Given the description of an element on the screen output the (x, y) to click on. 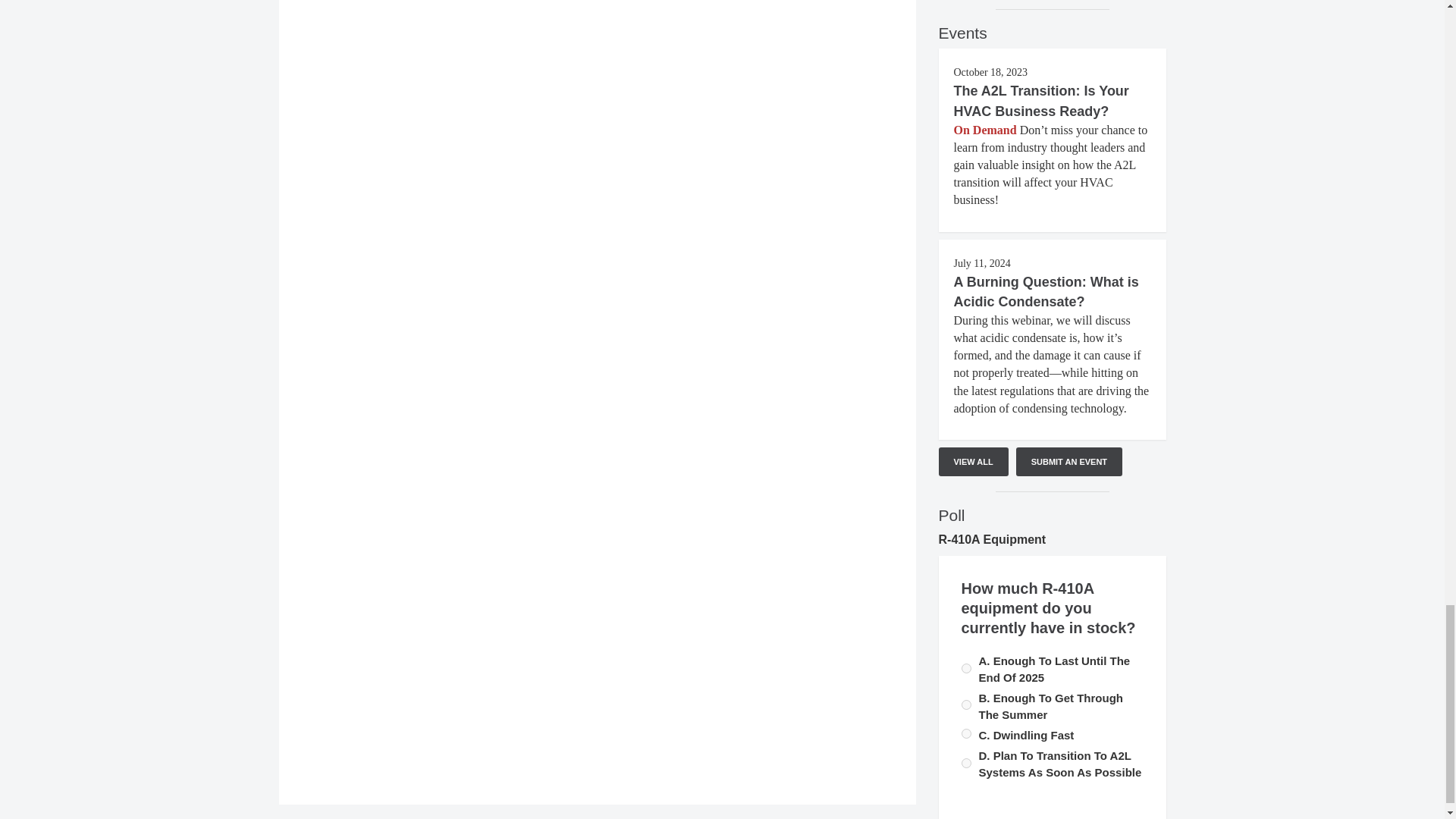
596 (965, 705)
597 (965, 668)
599 (965, 763)
The A2L Transition: Is Your HVAC Business Ready? (1041, 100)
598 (965, 733)
A Burning Question: What is Acidic Condensate? (1045, 291)
